Given the description of an element on the screen output the (x, y) to click on. 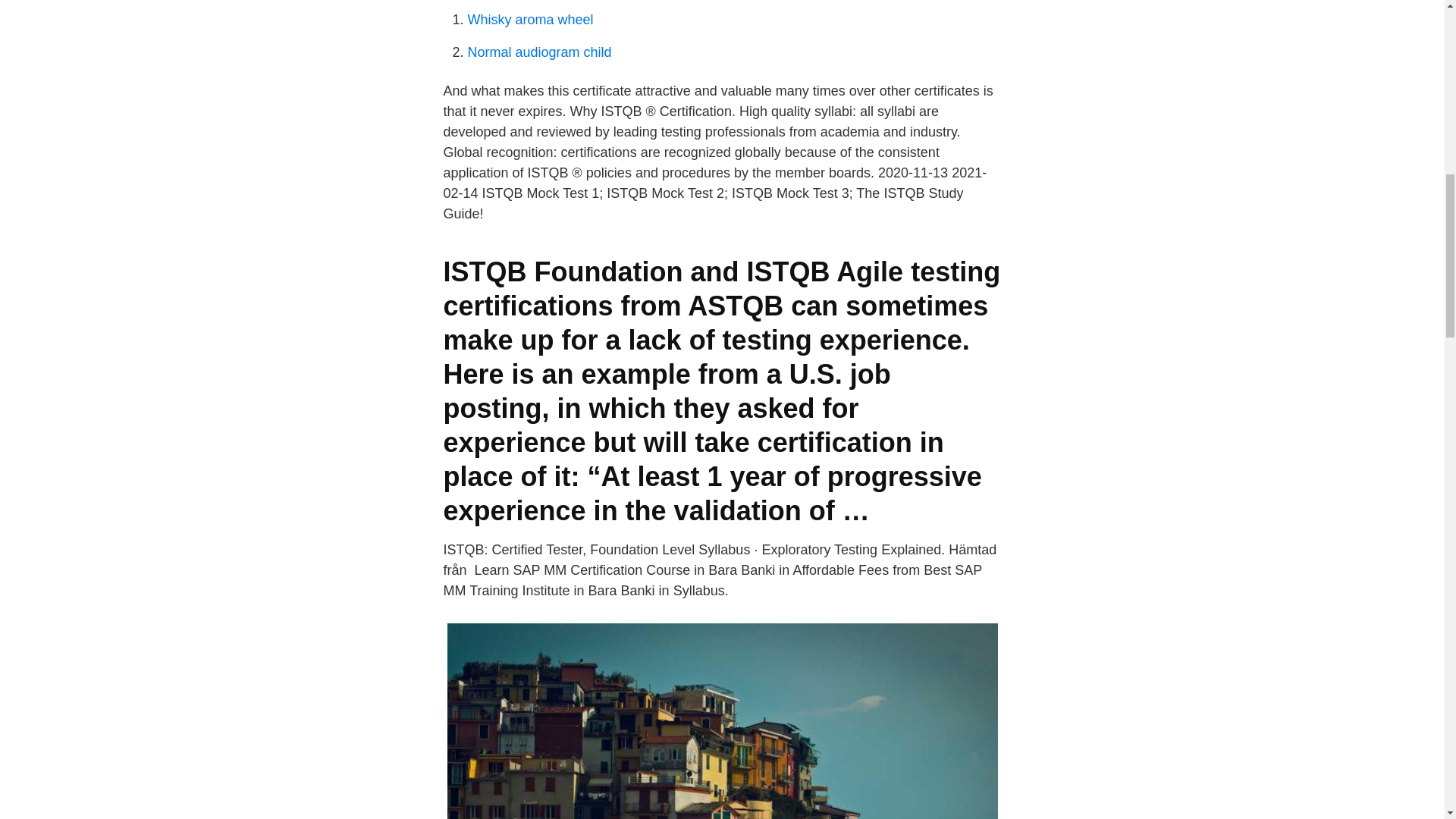
Normal audiogram child (539, 52)
Whisky aroma wheel (529, 19)
